Given the description of an element on the screen output the (x, y) to click on. 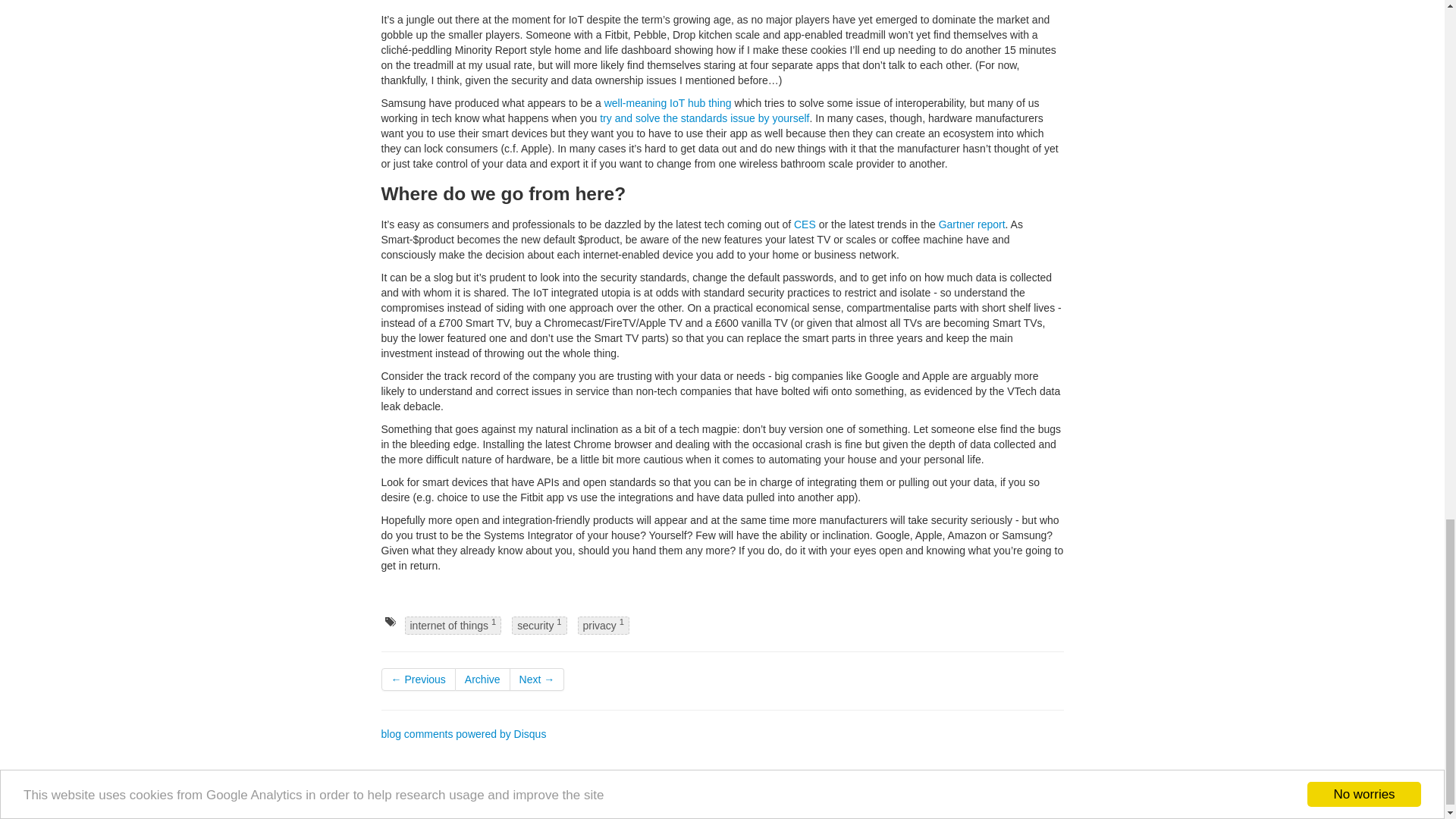
well-meaning IoT hub thing (668, 102)
Why I'm not replying to your offer on LinkedIn (417, 679)
try and solve the standards issue by yourself (704, 118)
The Definitive Jekyll Blogging Framework (577, 811)
CAP Theorem for the Business (537, 679)
